Given the description of an element on the screen output the (x, y) to click on. 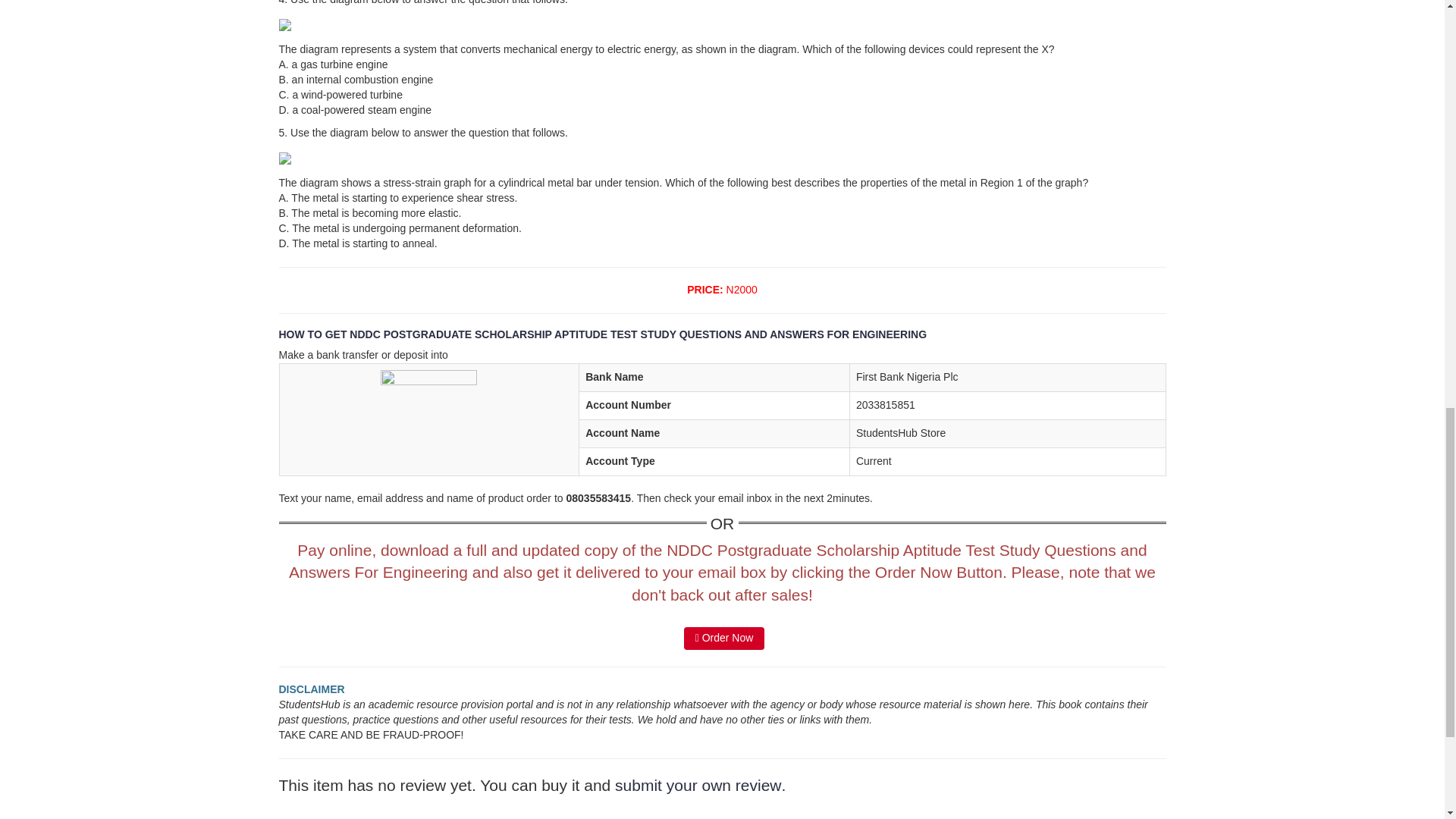
Order Now (724, 638)
submit your own review (697, 784)
